Given the description of an element on the screen output the (x, y) to click on. 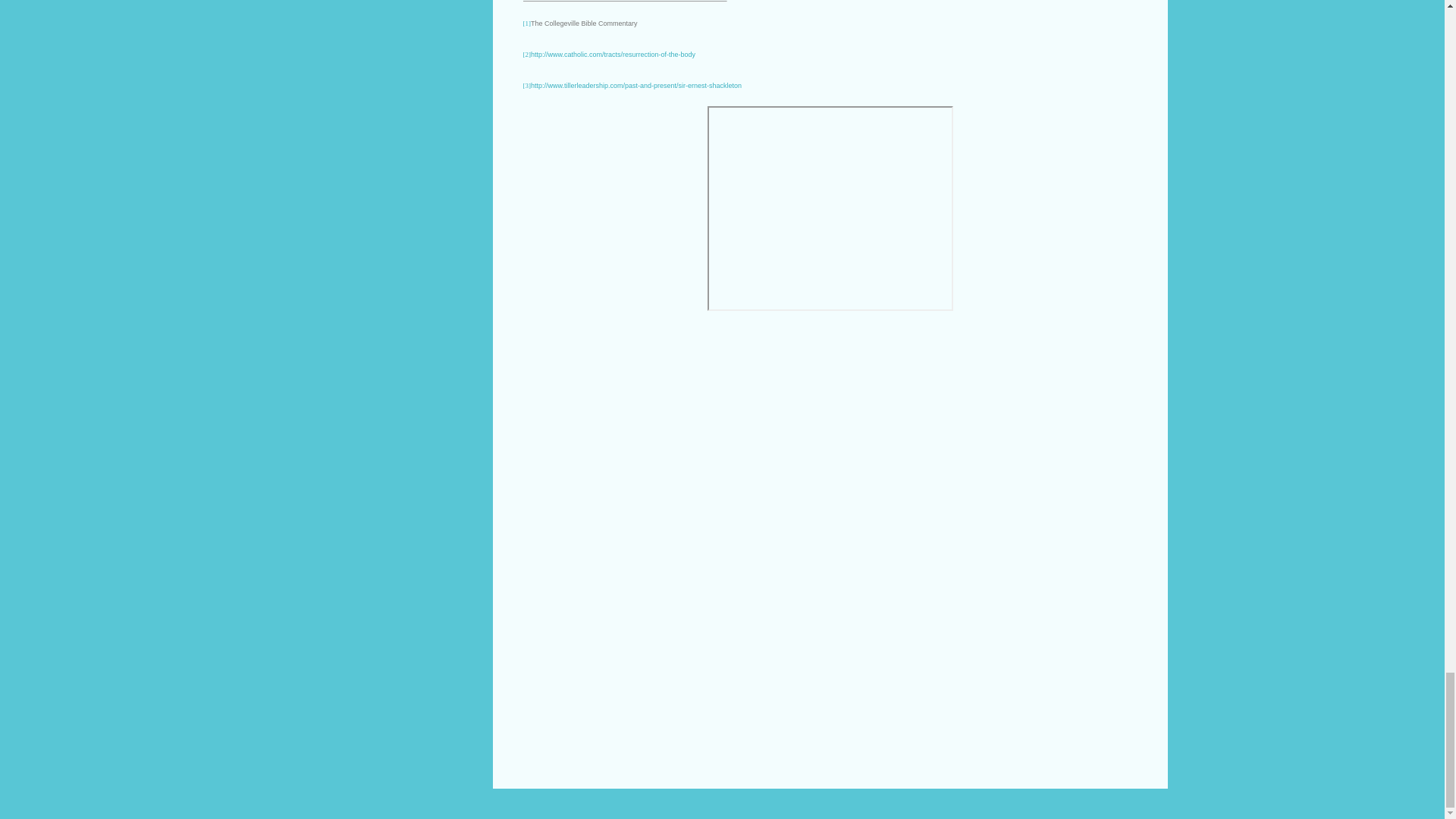
Email Post (562, 395)
